Given the description of an element on the screen output the (x, y) to click on. 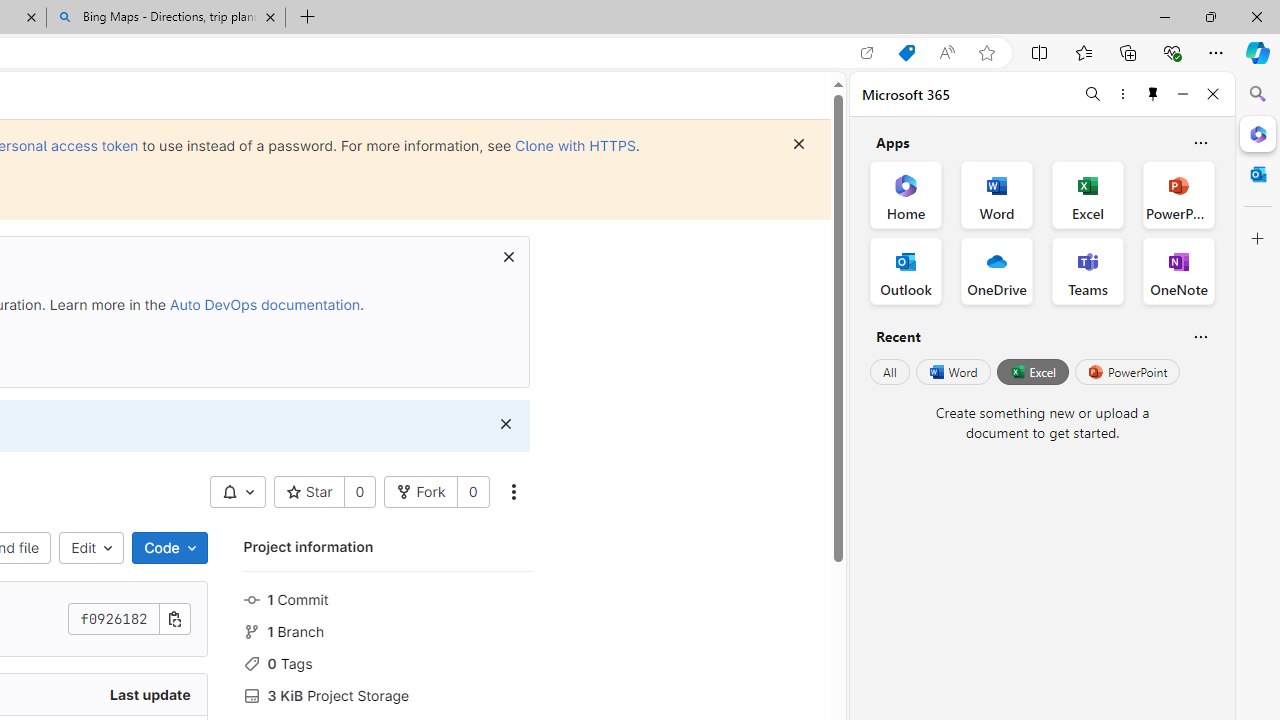
3 KiB Project Storage (387, 693)
Class: s16 icon gl-mr-3 gl-text-gray-500 (251, 696)
Fork (421, 491)
All (890, 372)
AutomationID: __BVID__498__BV_toggle_ (237, 491)
Class: s16 gl-icon gl-button-icon  (505, 424)
Auto DevOps documentation (264, 304)
1 Commit (387, 597)
Is this helpful? (1200, 336)
